Given the description of an element on the screen output the (x, y) to click on. 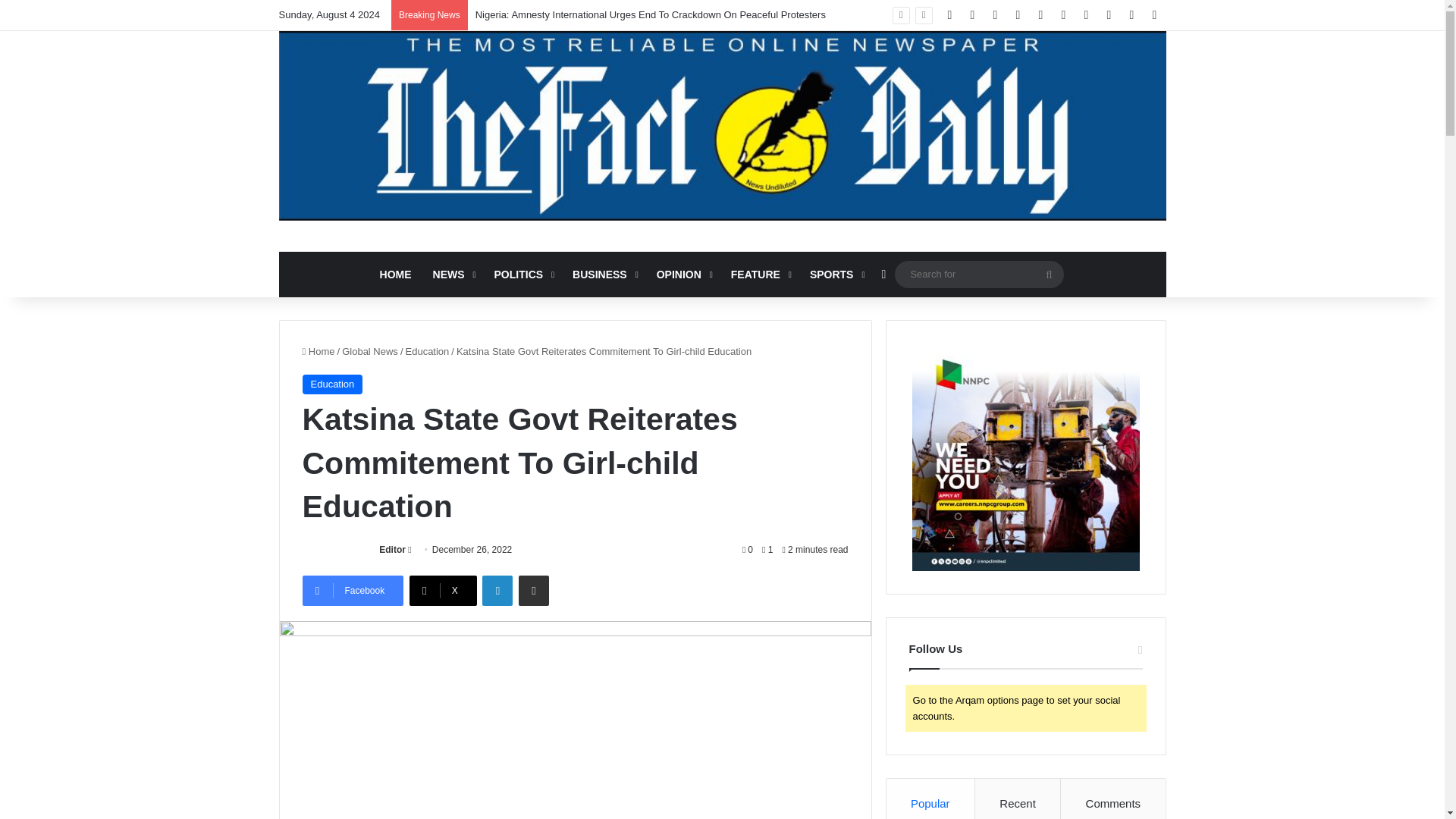
NEWS (452, 274)
Share via Email (533, 590)
Editor (392, 549)
Facebook (352, 590)
POLITICS (522, 274)
HOME (395, 274)
X (443, 590)
LinkedIn (496, 590)
